Given the description of an element on the screen output the (x, y) to click on. 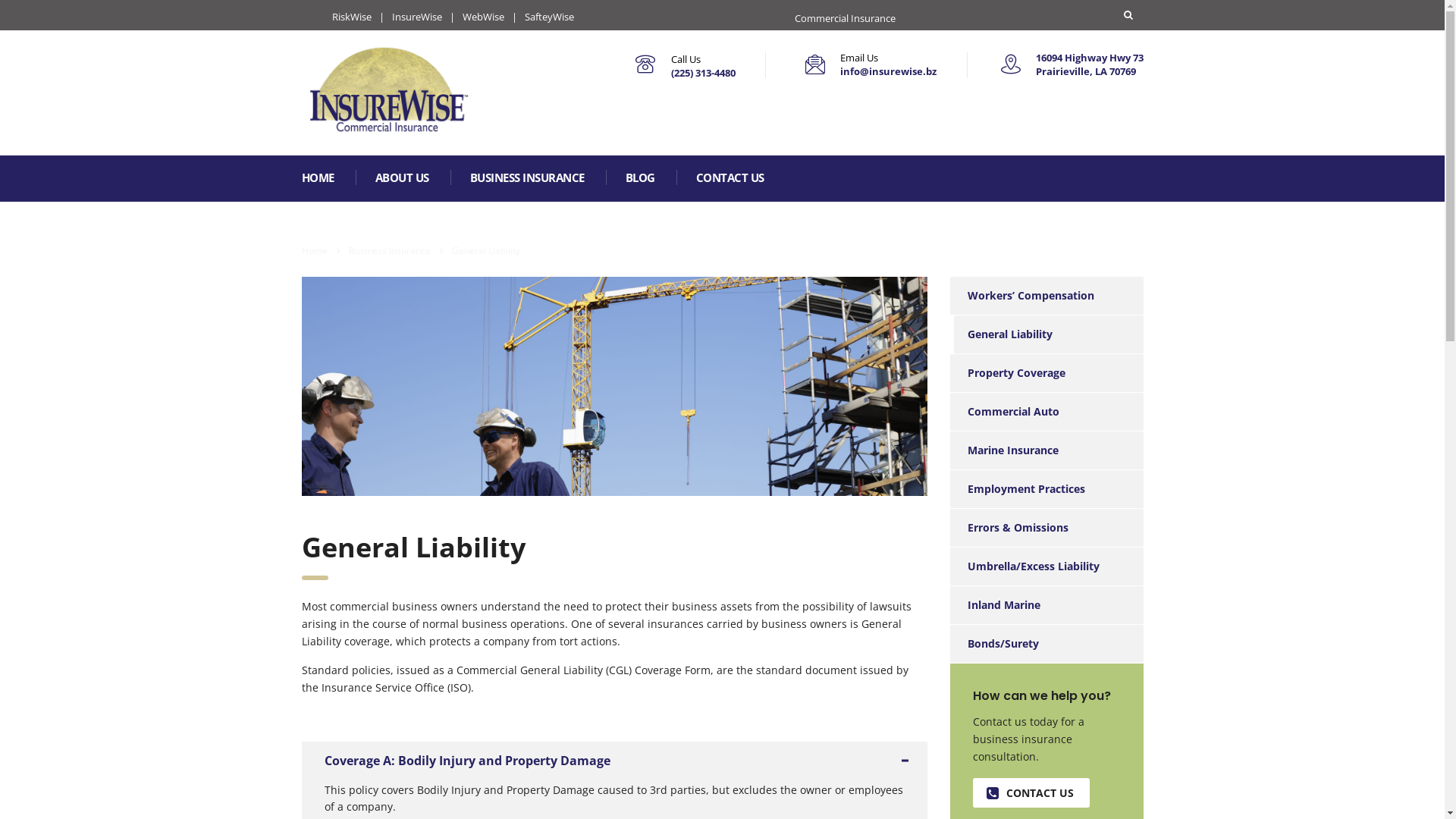
Commercial Auto Element type: text (1003, 411)
CONTACT US Element type: text (730, 178)
construction industry and workers Element type: hover (614, 385)
BLOG Element type: text (640, 178)
Marine Insurance Element type: text (1003, 450)
WebWise Element type: text (483, 16)
InsureWise Element type: text (416, 16)
Bonds/Surety Element type: text (993, 643)
Employment Practices Element type: text (1016, 489)
Errors & Omissions Element type: text (1008, 527)
Home Element type: text (314, 250)
RiskWise Element type: text (351, 16)
(225) 313-4480 Element type: text (702, 72)
ABOUT US Element type: text (401, 178)
16094 Highway Hwy 73
Prairieville, LA 70769 Element type: text (1089, 64)
Inland Marine Element type: text (994, 605)
Property Coverage Element type: text (1006, 373)
info@insurewise.bz Element type: text (888, 71)
SafteyWise Element type: text (549, 16)
Umbrella/Excess Liability Element type: text (1023, 566)
CONTACT US Element type: text (1030, 792)
General Liability Element type: text (1000, 334)
HOME Element type: text (318, 178)
Coverage A: Bodily Injury and Property Damage Element type: text (614, 760)
Business Insurance Element type: text (389, 250)
BUSINESS INSURANCE Element type: text (527, 178)
